Given the description of an element on the screen output the (x, y) to click on. 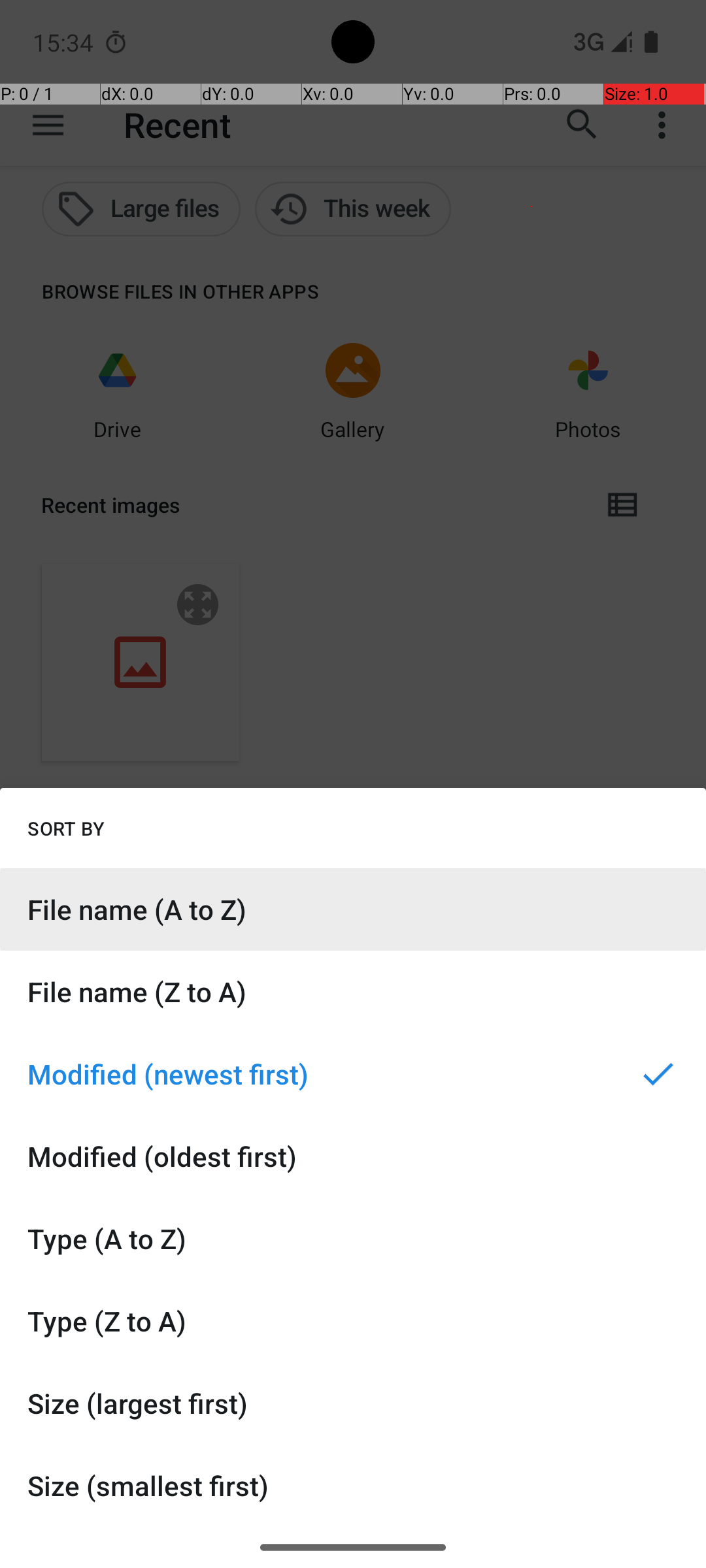
SORT BY Element type: android.widget.TextView (66, 827)
File name (A to Z) Element type: android.widget.CheckedTextView (353, 909)
File name (Z to A) Element type: android.widget.CheckedTextView (353, 991)
Modified (newest first) Element type: android.widget.CheckedTextView (353, 1073)
Modified (oldest first) Element type: android.widget.CheckedTextView (353, 1156)
Type (A to Z) Element type: android.widget.CheckedTextView (353, 1238)
Type (Z to A) Element type: android.widget.CheckedTextView (353, 1320)
Size (largest first) Element type: android.widget.CheckedTextView (353, 1403)
Size (smallest first) Element type: android.widget.CheckedTextView (353, 1485)
